Given the description of an element on the screen output the (x, y) to click on. 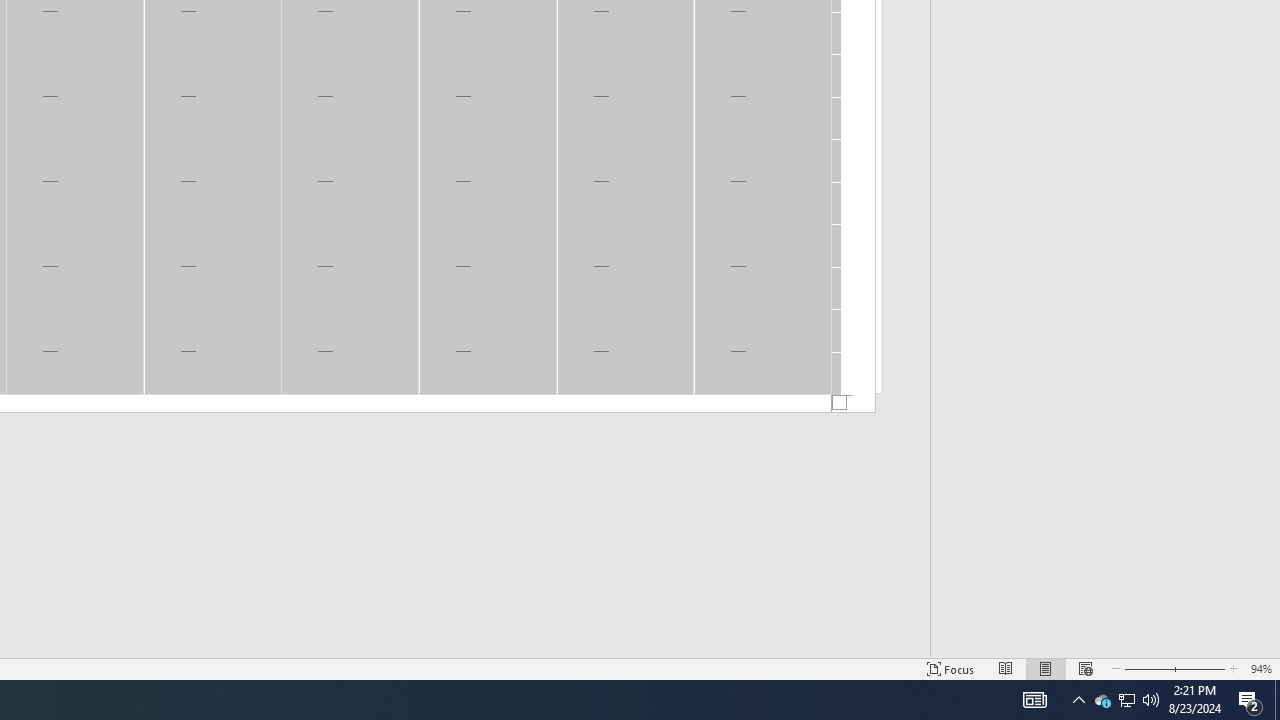
Notification Chevron (1078, 699)
Web Layout (1085, 668)
AutomationID: 4105 (1126, 699)
Zoom In (1034, 699)
Show desktop (1199, 668)
Print Layout (1277, 699)
Action Center, 2 new notifications (1046, 668)
Q2790: 100% (1250, 699)
User Promoted Notification Area (1151, 699)
Zoom Out (1126, 699)
